Given the description of an element on the screen output the (x, y) to click on. 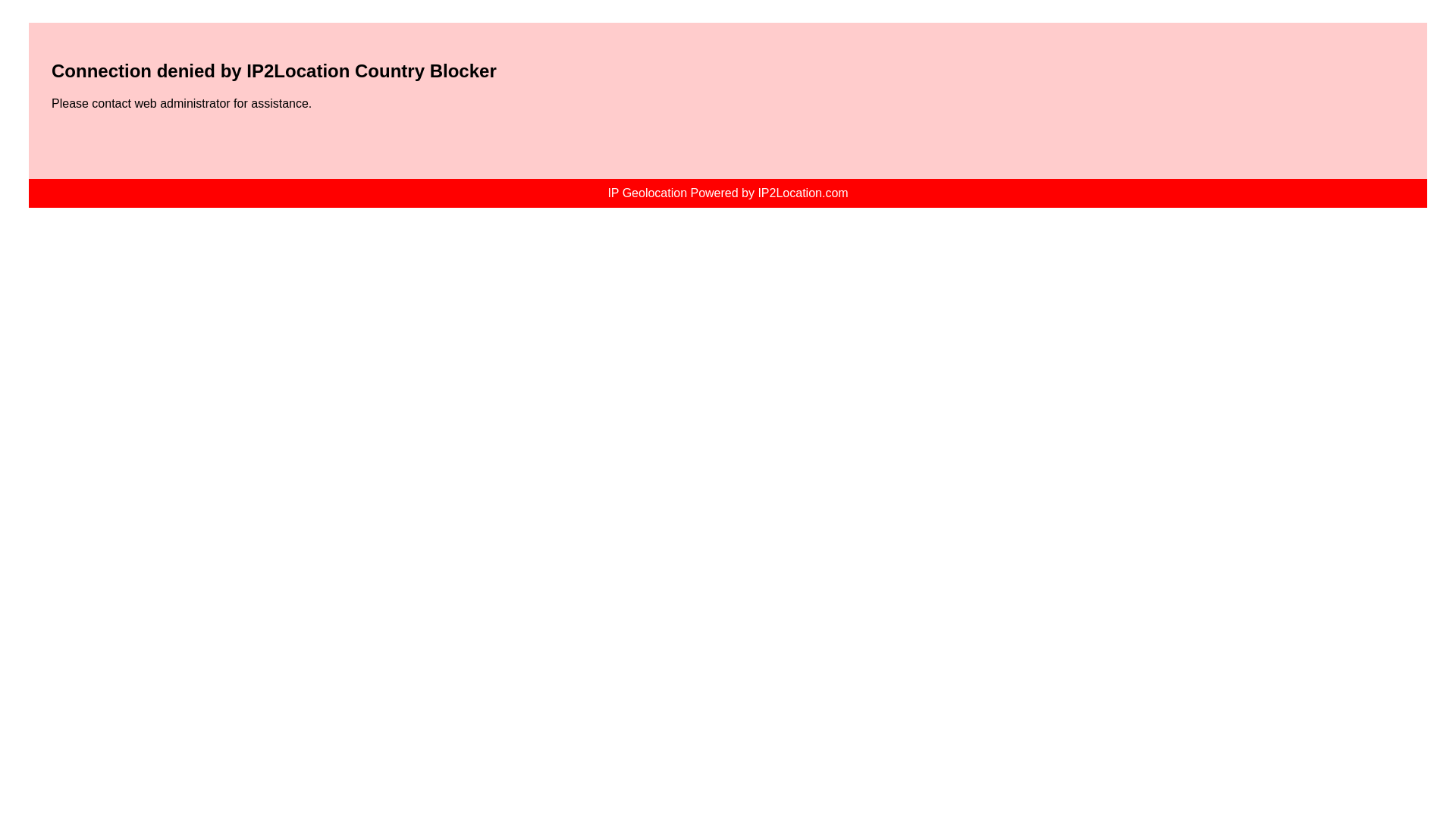
IP Geolocation Powered by IP2Location.com (727, 192)
